Given the description of an element on the screen output the (x, y) to click on. 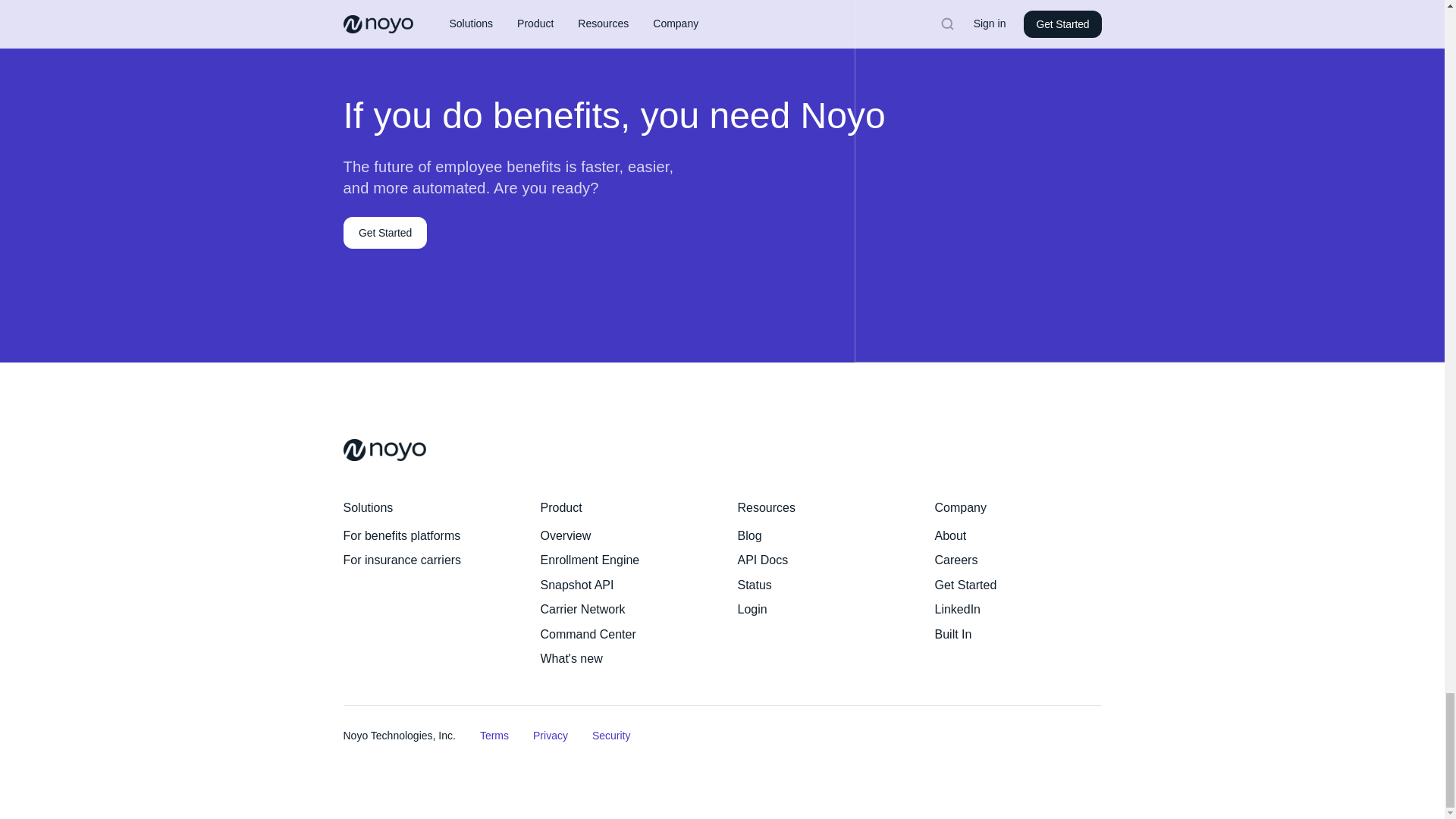
Enrollment Engine (589, 559)
Careers (955, 559)
Overview (565, 535)
For benefits platforms (401, 535)
Terms (494, 735)
Snapshot API (576, 584)
Built In (952, 634)
Privacy (549, 735)
Get Started (964, 584)
LinkedIn (956, 608)
